Given the description of an element on the screen output the (x, y) to click on. 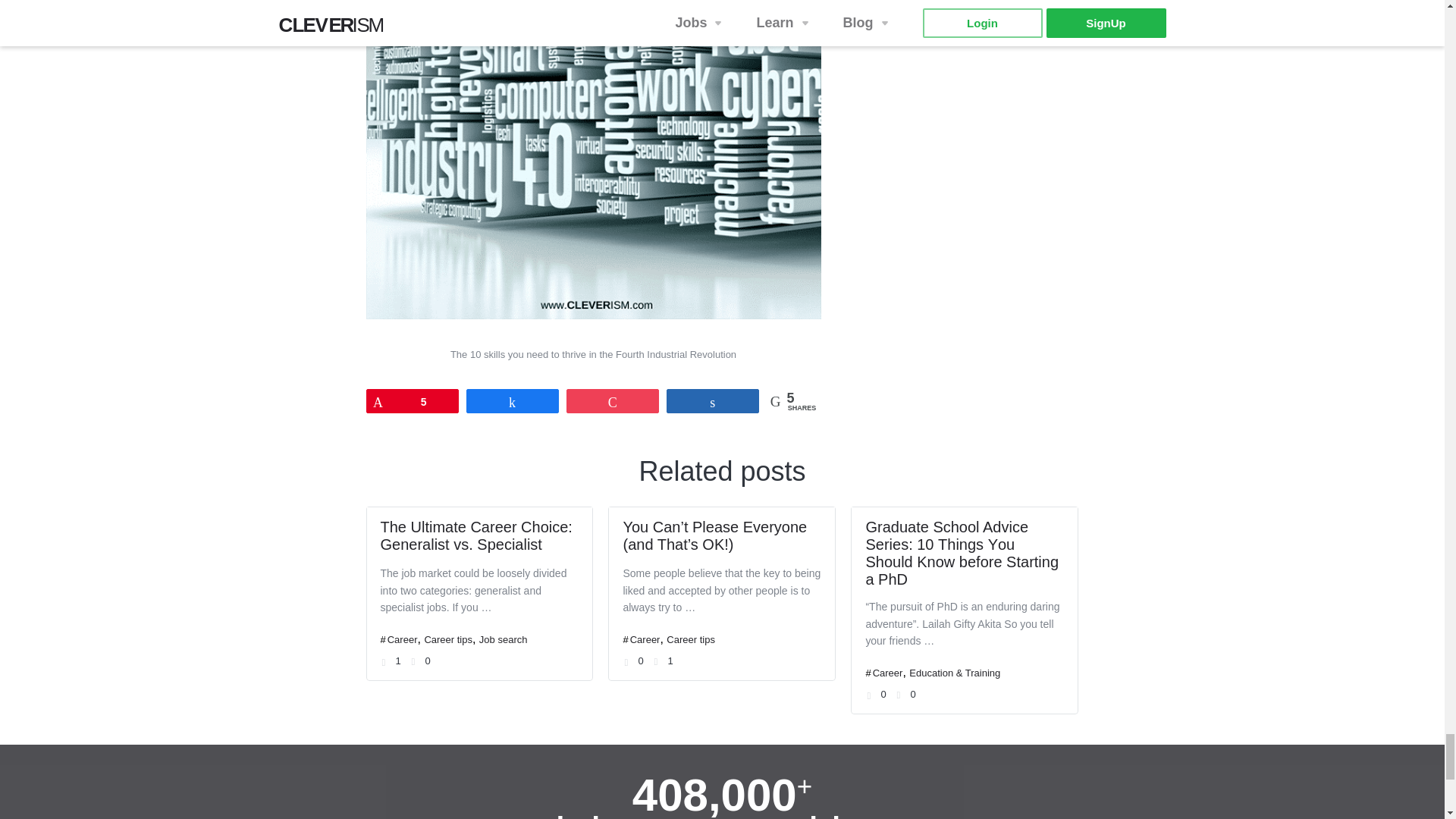
Career (645, 639)
Career (402, 639)
The Ultimate Career Choice: Generalist vs. Specialist (476, 535)
5 (412, 400)
Career tips (447, 639)
Job search (503, 639)
